Given the description of an element on the screen output the (x, y) to click on. 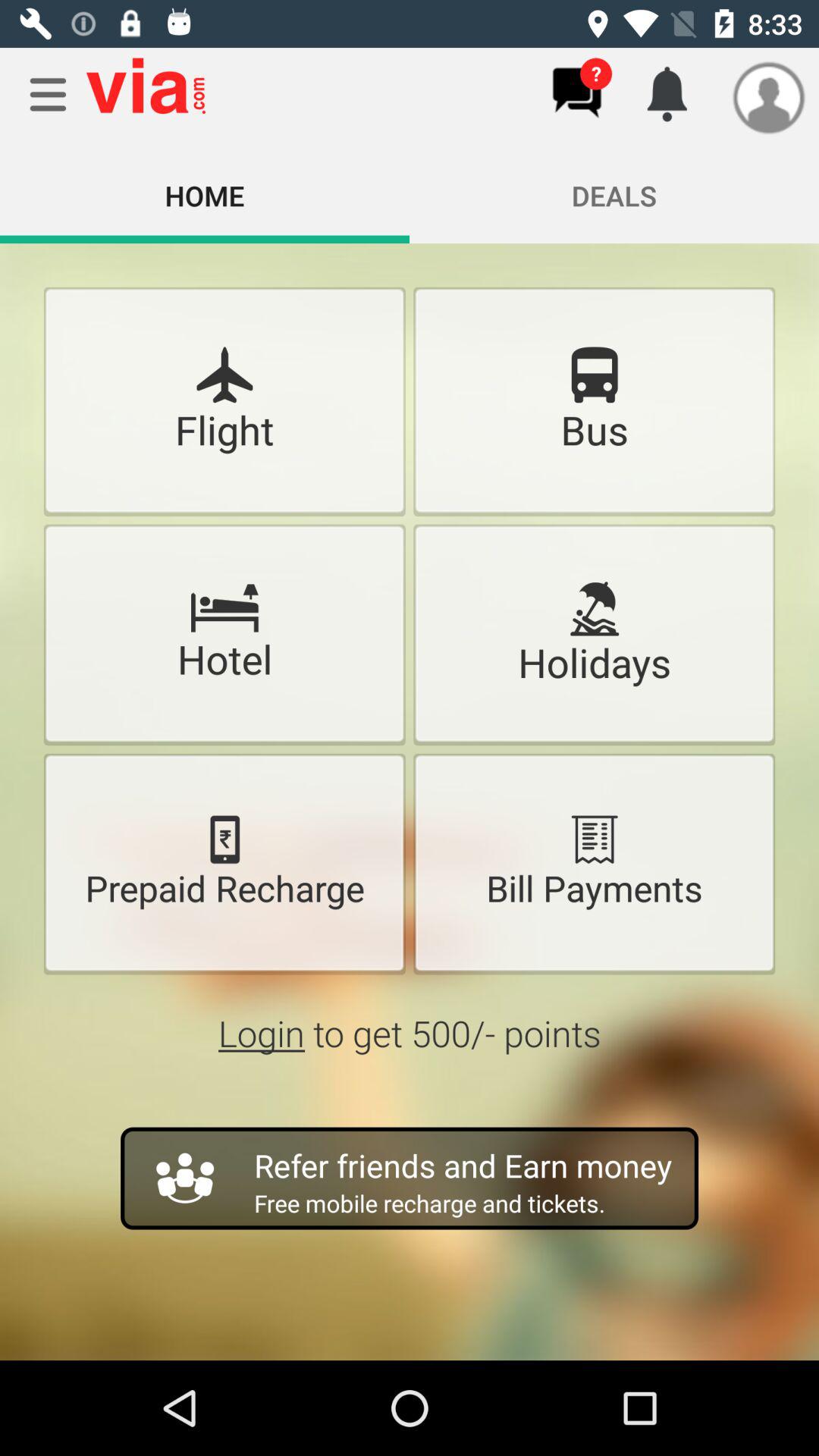
help chat button (576, 92)
